Given the description of an element on the screen output the (x, y) to click on. 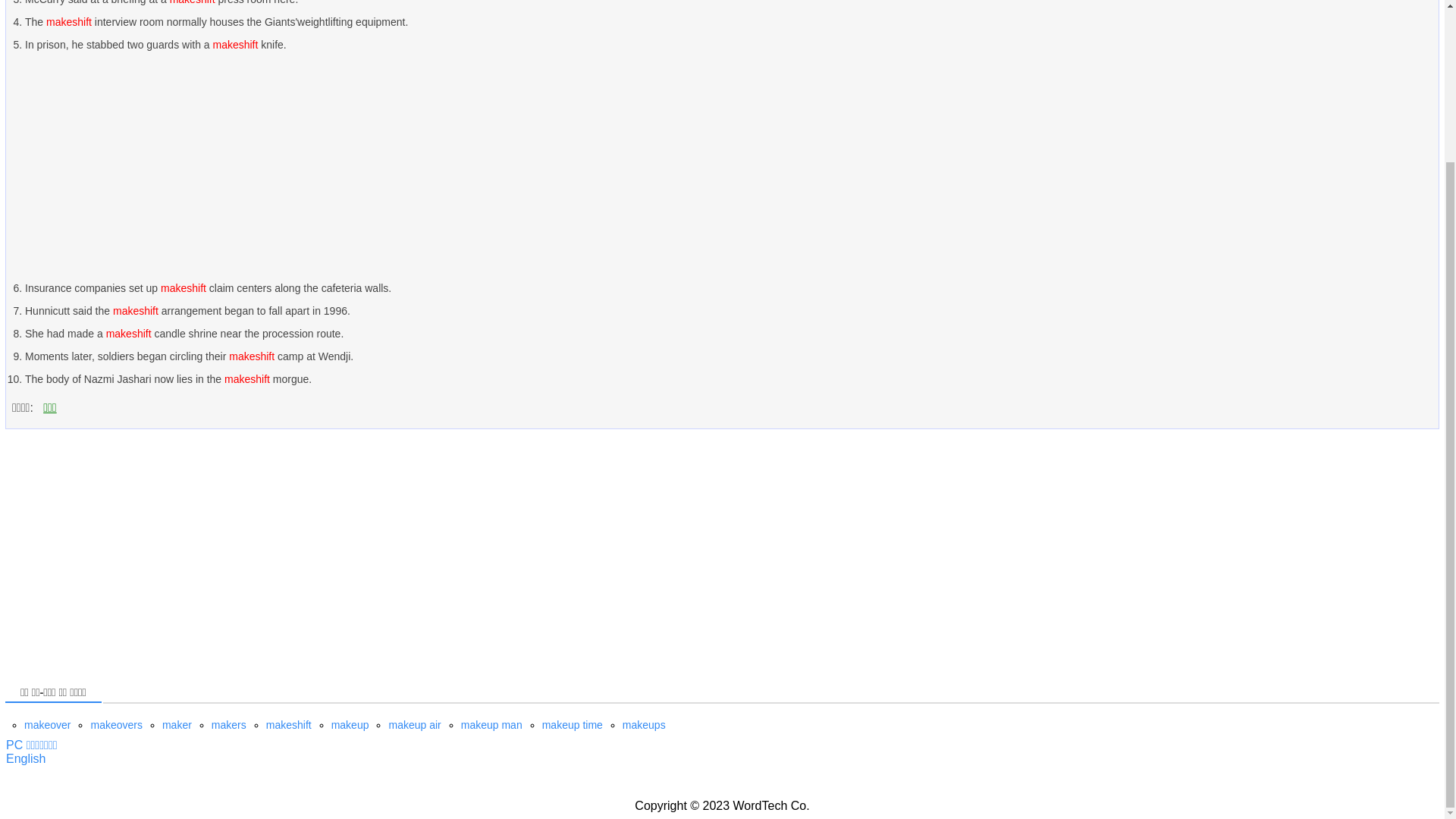
makeover (46, 725)
makeovers (115, 725)
makeup (350, 725)
maker (176, 725)
makeups (644, 725)
English (25, 758)
makeup air (414, 725)
makeup time (571, 725)
makeup man (491, 725)
makeshift (288, 725)
makers (228, 725)
makeshifts in Hindi (25, 758)
